Given the description of an element on the screen output the (x, y) to click on. 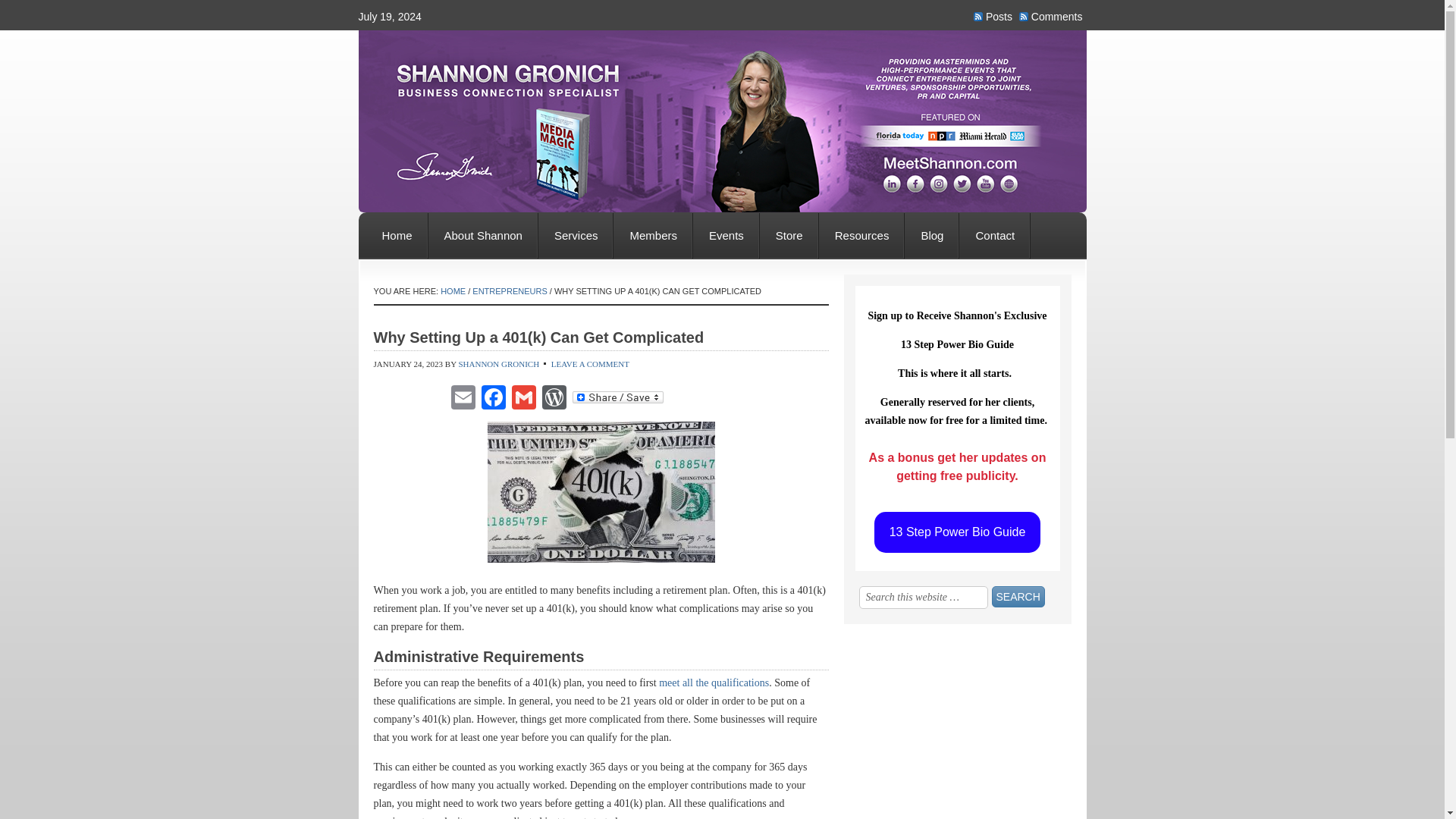
Services (576, 235)
Shannon Procise (722, 71)
Resources (861, 235)
Email (461, 396)
ENTREPRENEURS (509, 290)
WordPress (553, 396)
Members (652, 235)
Facebook (492, 396)
SHANNON GRONICH (498, 363)
2023-01-24T18:48:25-05:00 (407, 363)
Blog (931, 235)
HOME (453, 290)
Facebook (492, 396)
Store (789, 235)
Email (461, 396)
